Given the description of an element on the screen output the (x, y) to click on. 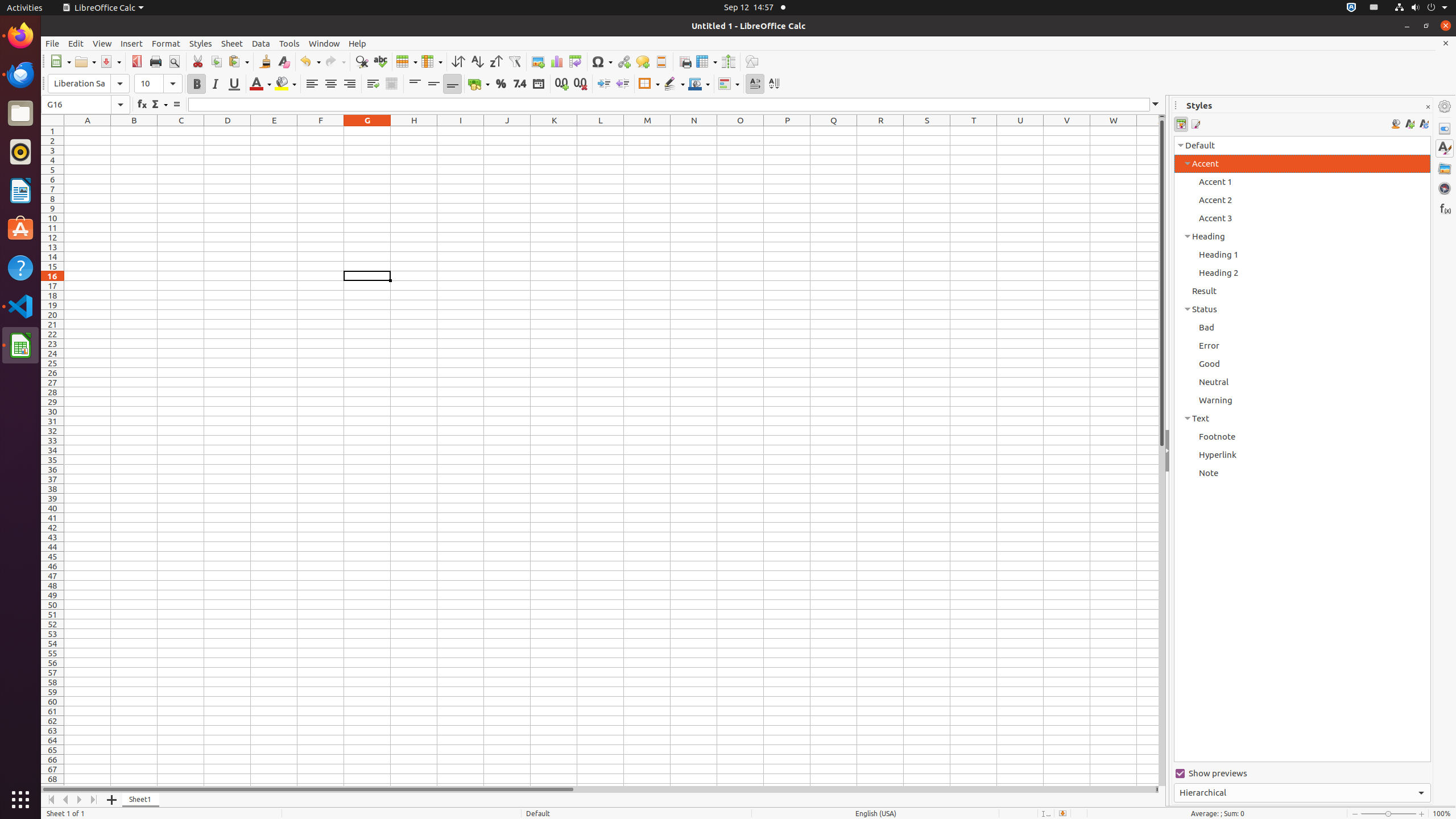
Print Preview Element type: toggle-button (173, 61)
Rhythmbox Element type: push-button (20, 151)
D1 Element type: table-cell (227, 130)
Format Element type: menu (165, 43)
Page Styles Element type: push-button (1195, 123)
